Given the description of an element on the screen output the (x, y) to click on. 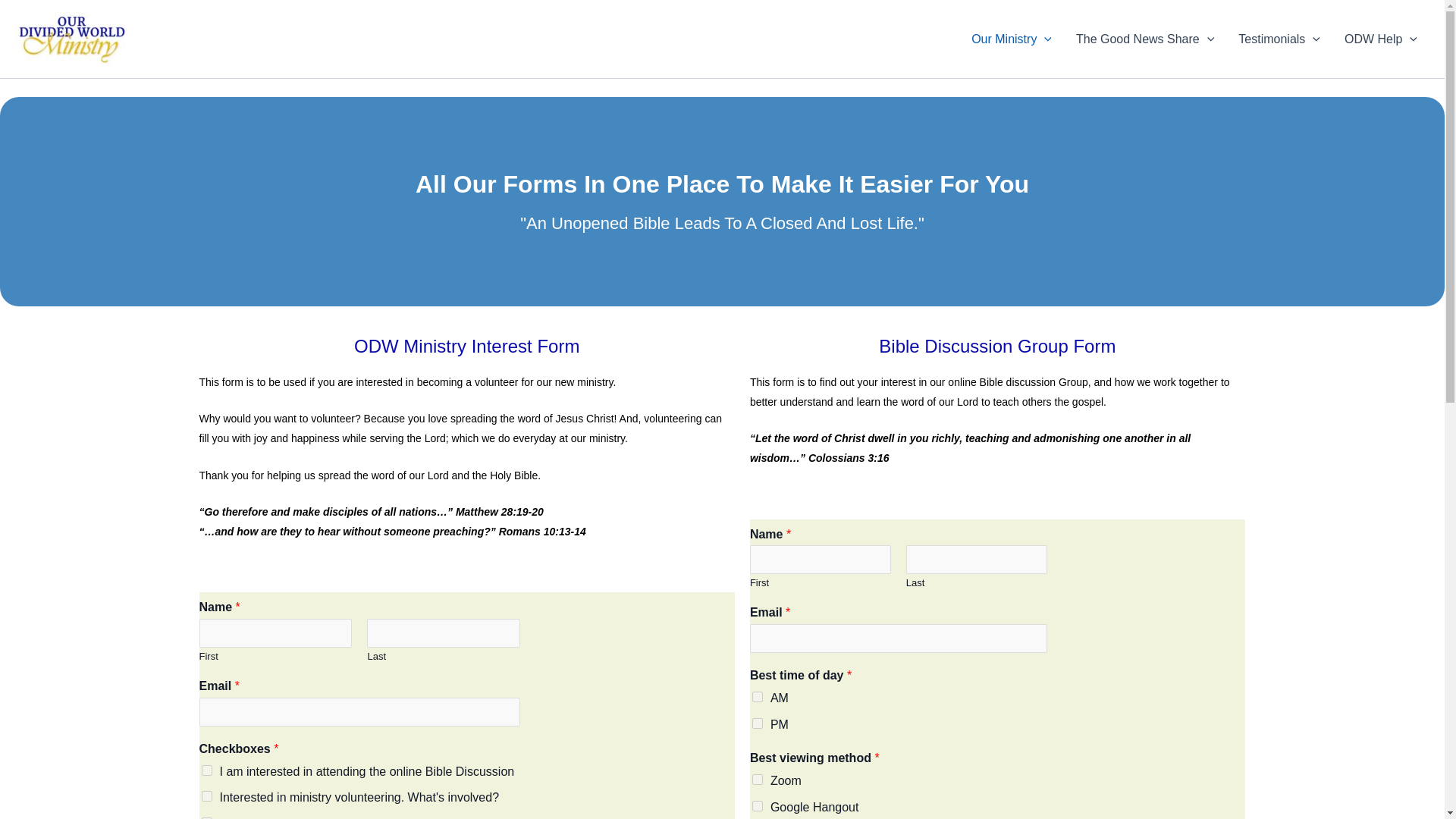
Zoom (757, 778)
PM (757, 722)
Our Ministry (1011, 39)
Testimonials (1278, 39)
Interested in ministry volunteering. What's involved? (207, 796)
I am interested in attending the online Bible Discussion (207, 769)
The Good News Share (1144, 39)
AM (757, 696)
ODW Help (1380, 39)
Google Hangout (757, 805)
